Given the description of an element on the screen output the (x, y) to click on. 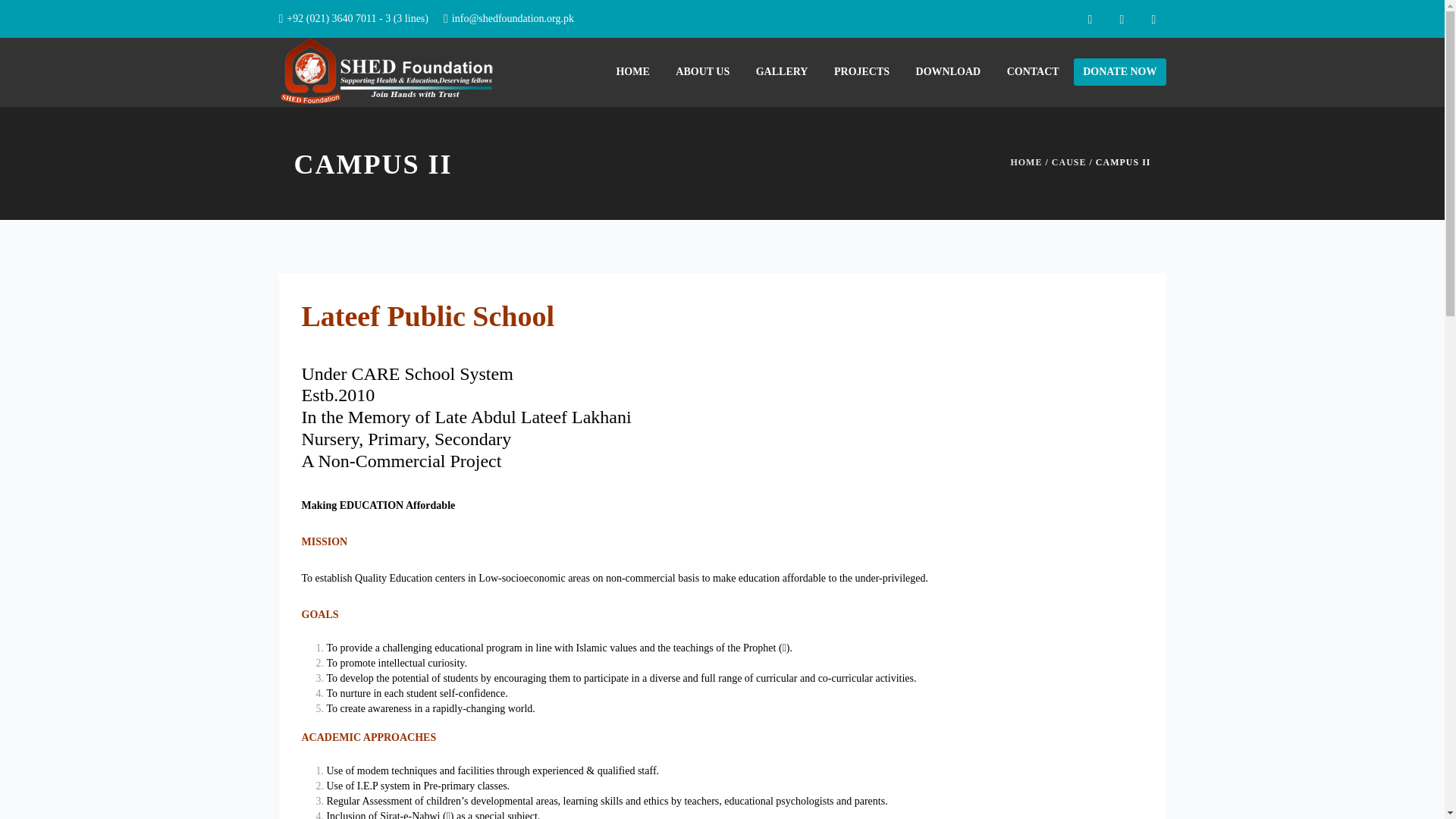
CAUSE (1068, 162)
HOME (1026, 162)
DONATE NOW (1120, 71)
SHED Foundation (389, 71)
CONTACT (1032, 71)
PROJECTS (861, 71)
GALLERY (781, 71)
ABOUT US (702, 71)
DOWNLOAD (948, 71)
